Given the description of an element on the screen output the (x, y) to click on. 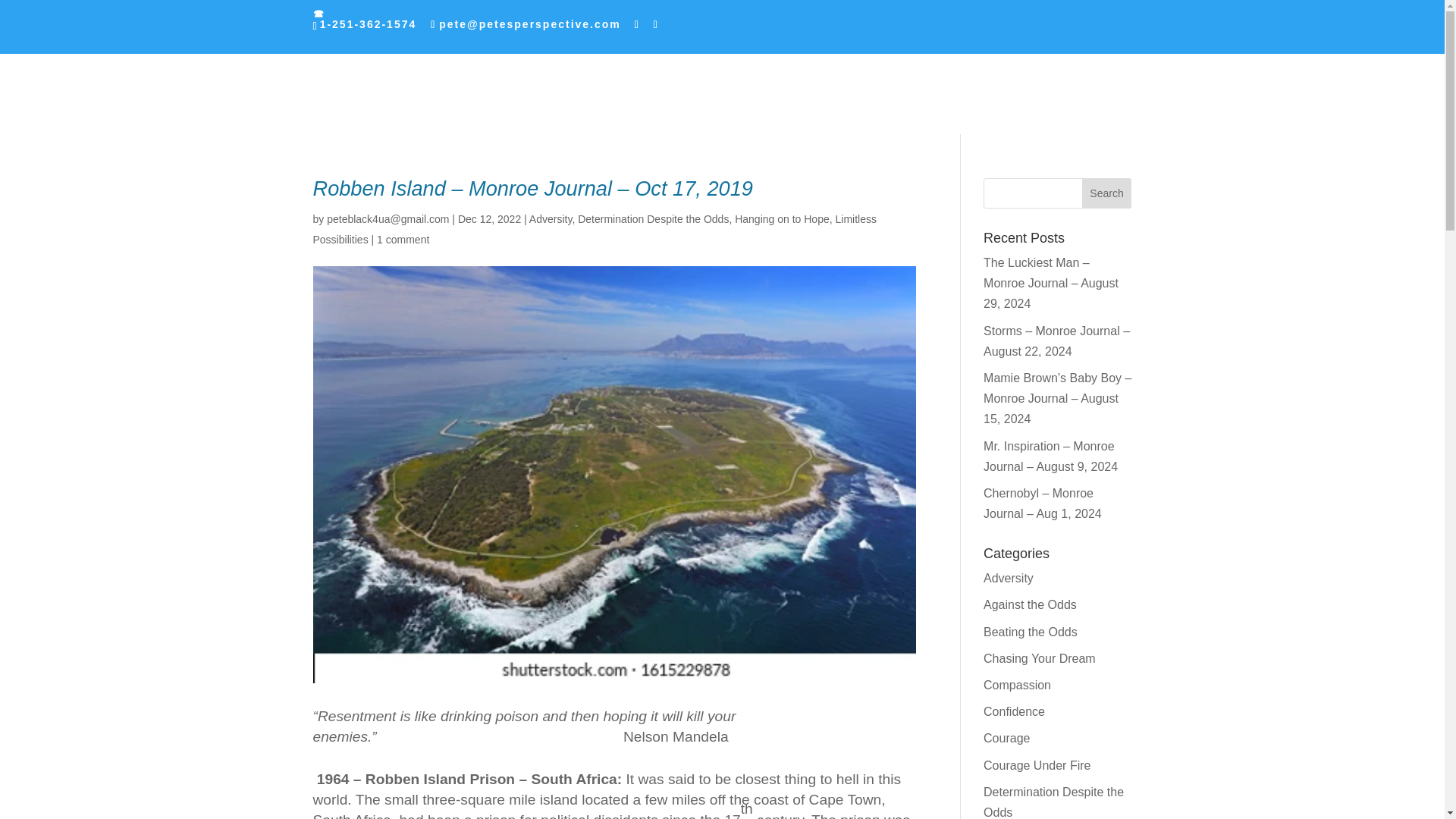
Determination Despite the Odds (1054, 802)
1 comment (403, 239)
Adversity (550, 218)
Limitless Possibilities (594, 228)
Courage (1006, 738)
Confidence (1014, 711)
Search (1106, 193)
Contact Me (654, 43)
Beating the Odds (1030, 631)
Adversity (1008, 577)
